Given the description of an element on the screen output the (x, y) to click on. 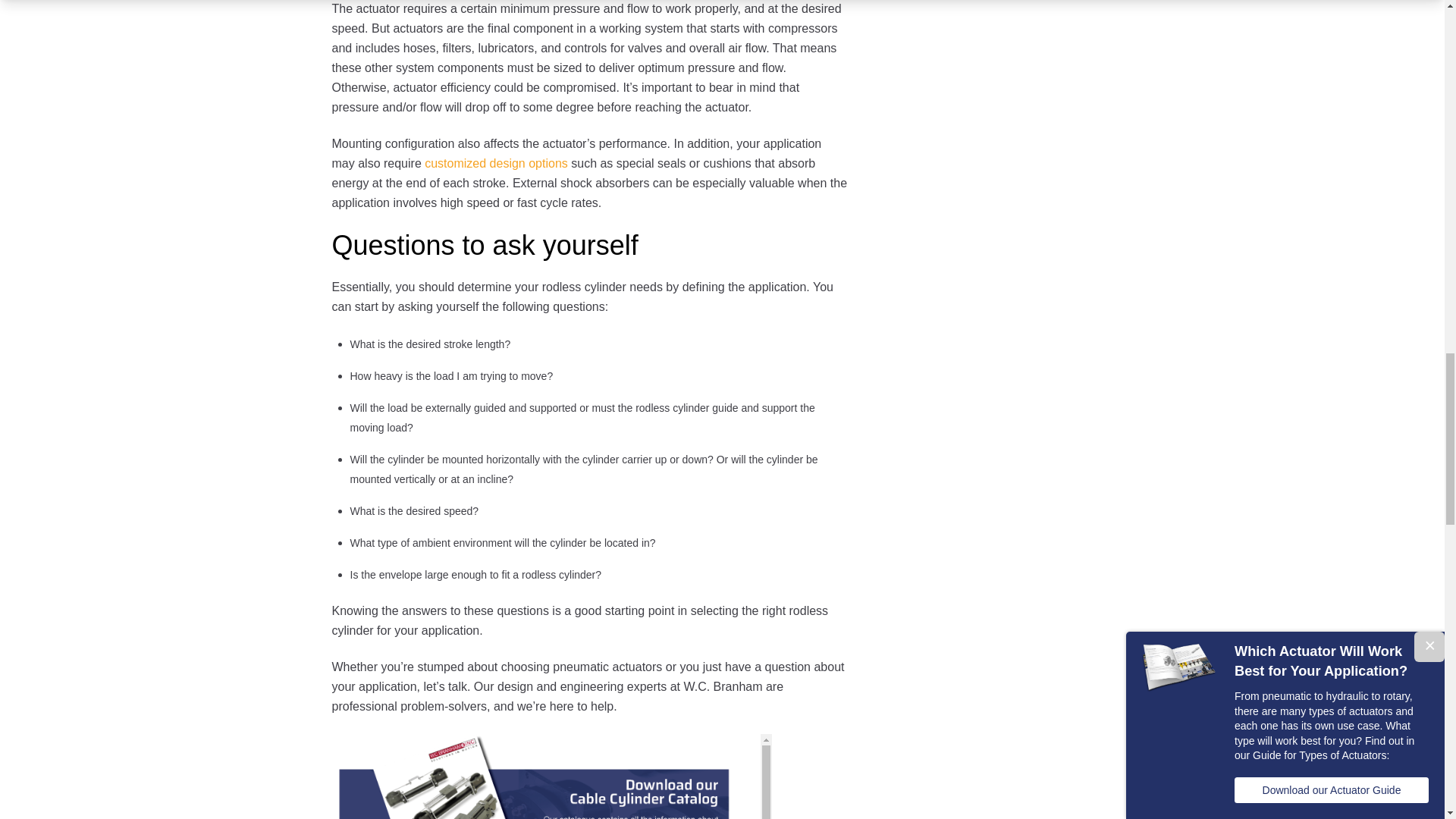
Embedded CTA (551, 776)
